Given the description of an element on the screen output the (x, y) to click on. 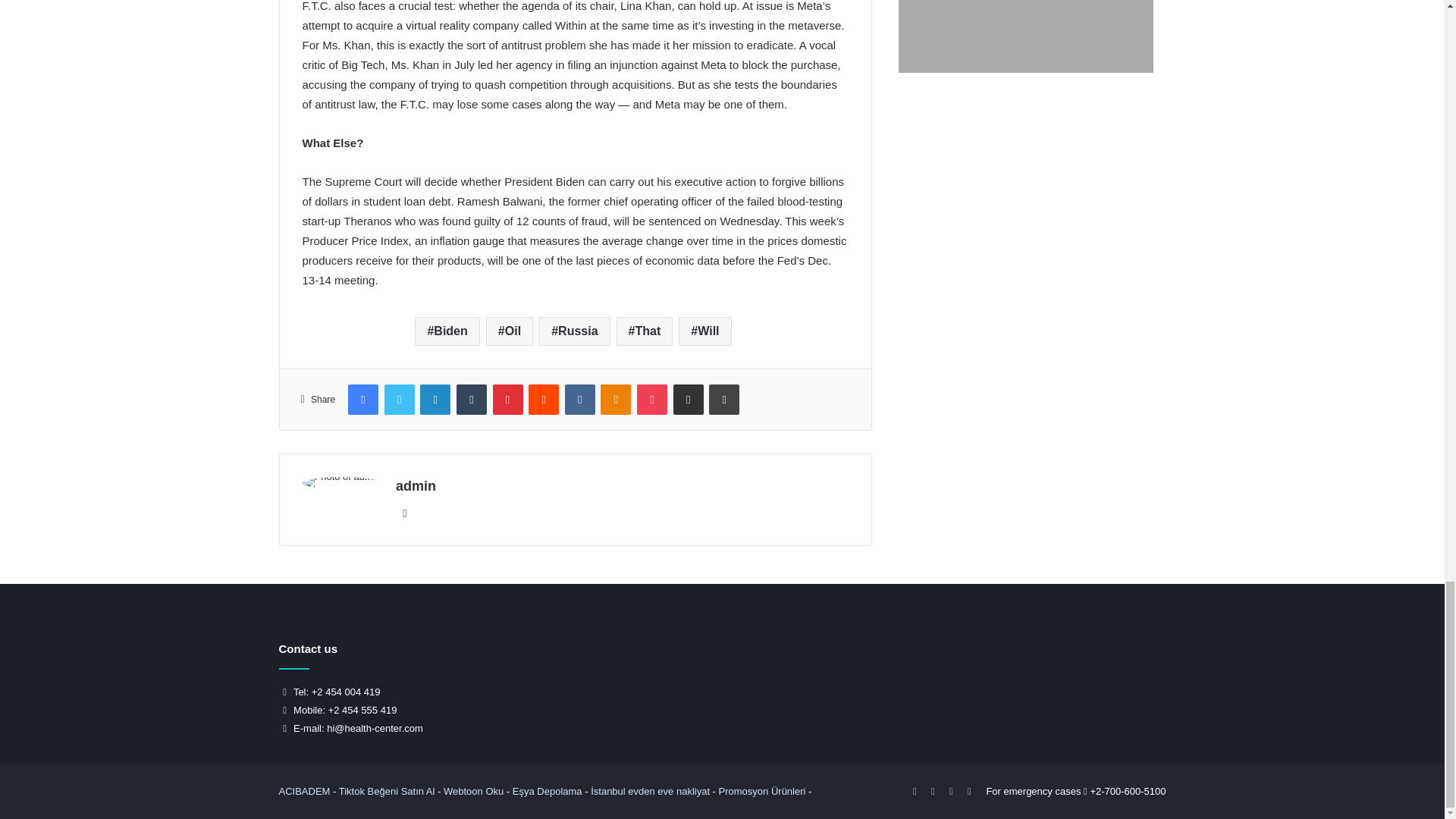
That (643, 330)
Russia (574, 330)
Biden (446, 330)
Facebook (362, 399)
Oil (509, 330)
Will (704, 330)
LinkedIn (434, 399)
Twitter (399, 399)
